Given the description of an element on the screen output the (x, y) to click on. 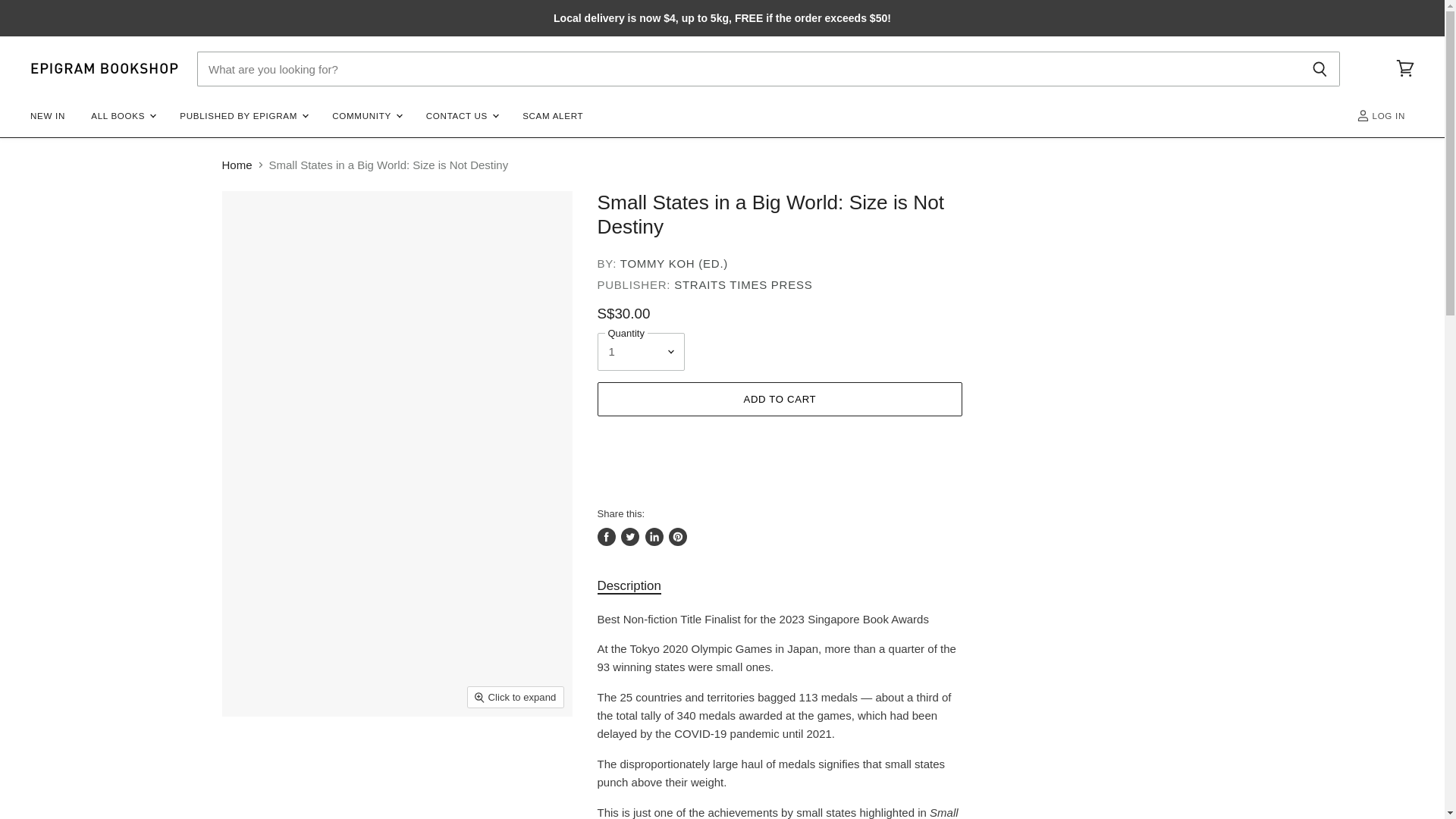
View cart (1405, 68)
NEW IN (47, 115)
ALL BOOKS (122, 115)
ACCOUNT ICON (1363, 115)
